Given the description of an element on the screen output the (x, y) to click on. 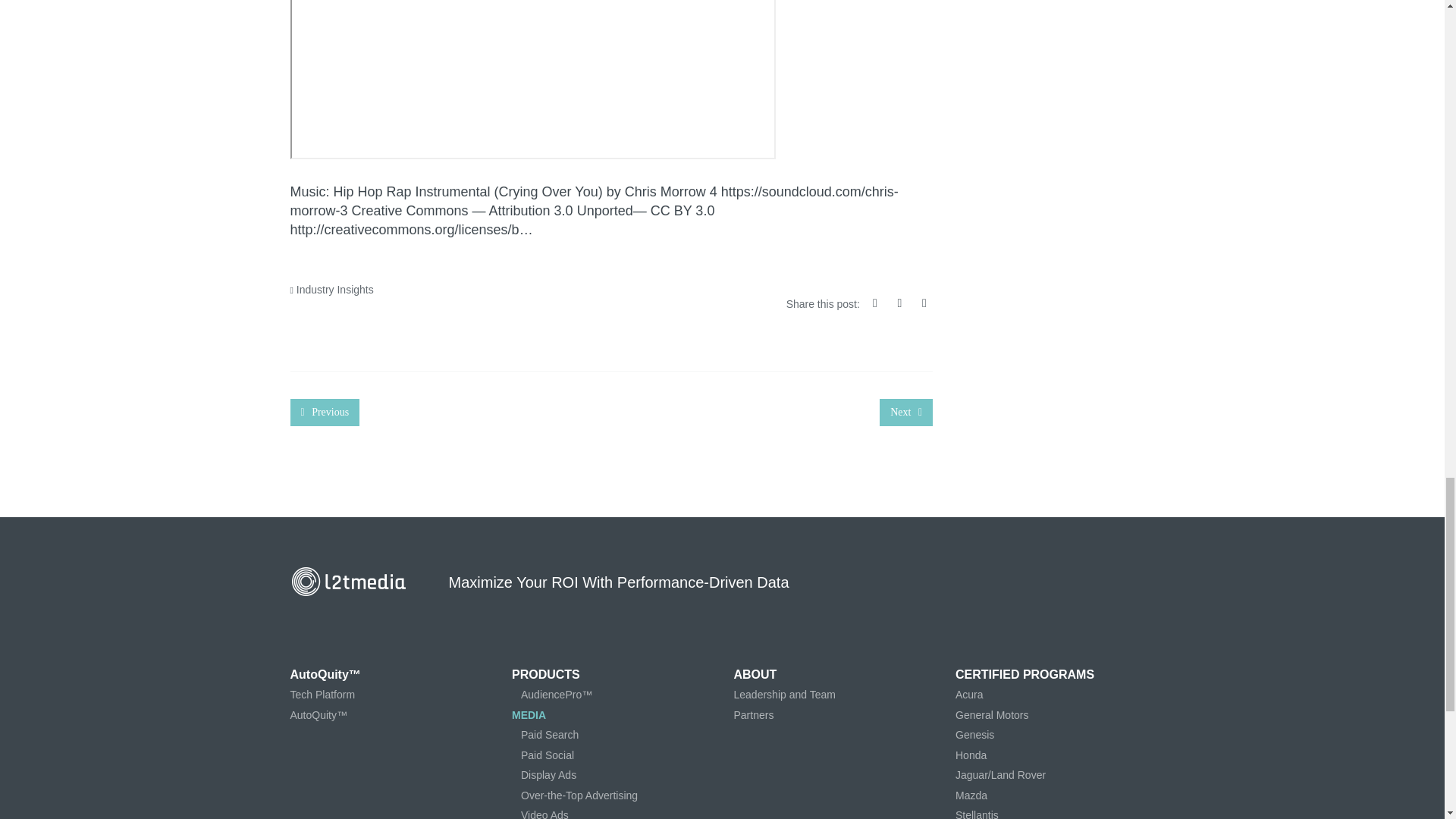
Industry Insights (335, 289)
